Given the description of an element on the screen output the (x, y) to click on. 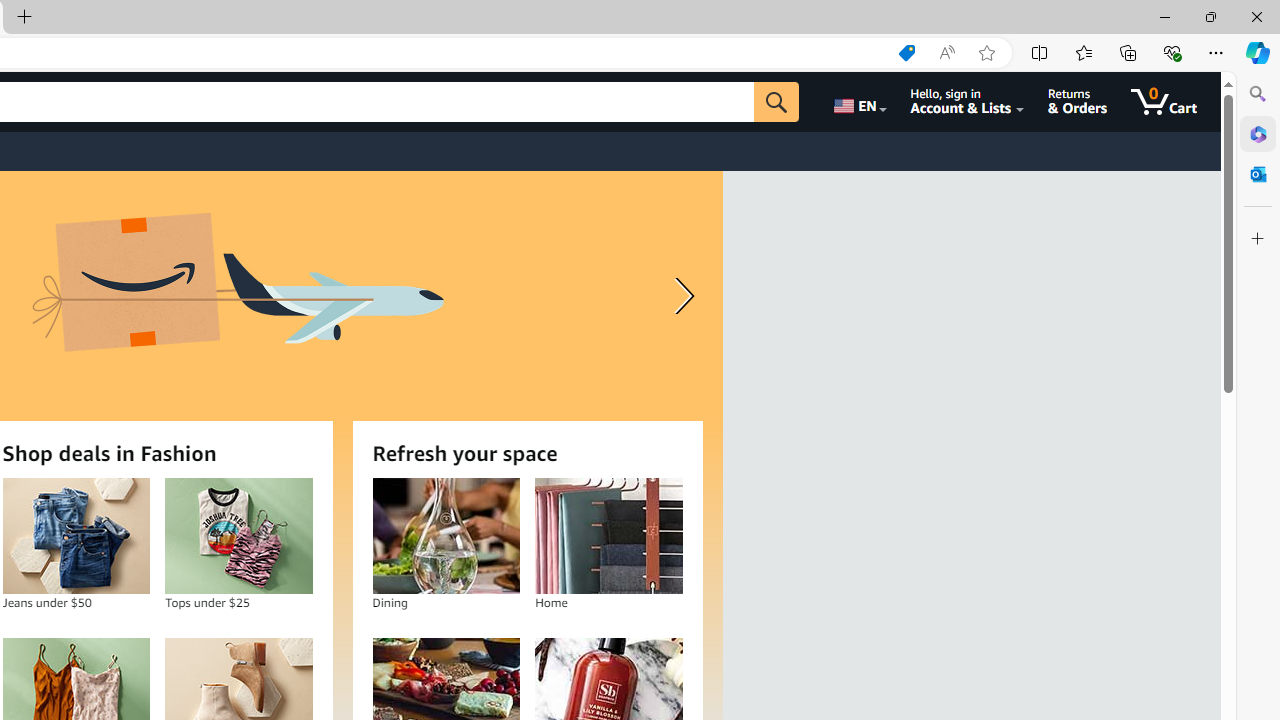
Returns & Orders (1077, 101)
Tops under $25 (239, 536)
Dining (445, 536)
Jeans under $50 (75, 536)
Hello, sign in Account & Lists (967, 101)
Next slide (680, 296)
Close Outlook pane (1258, 174)
